Given the description of an element on the screen output the (x, y) to click on. 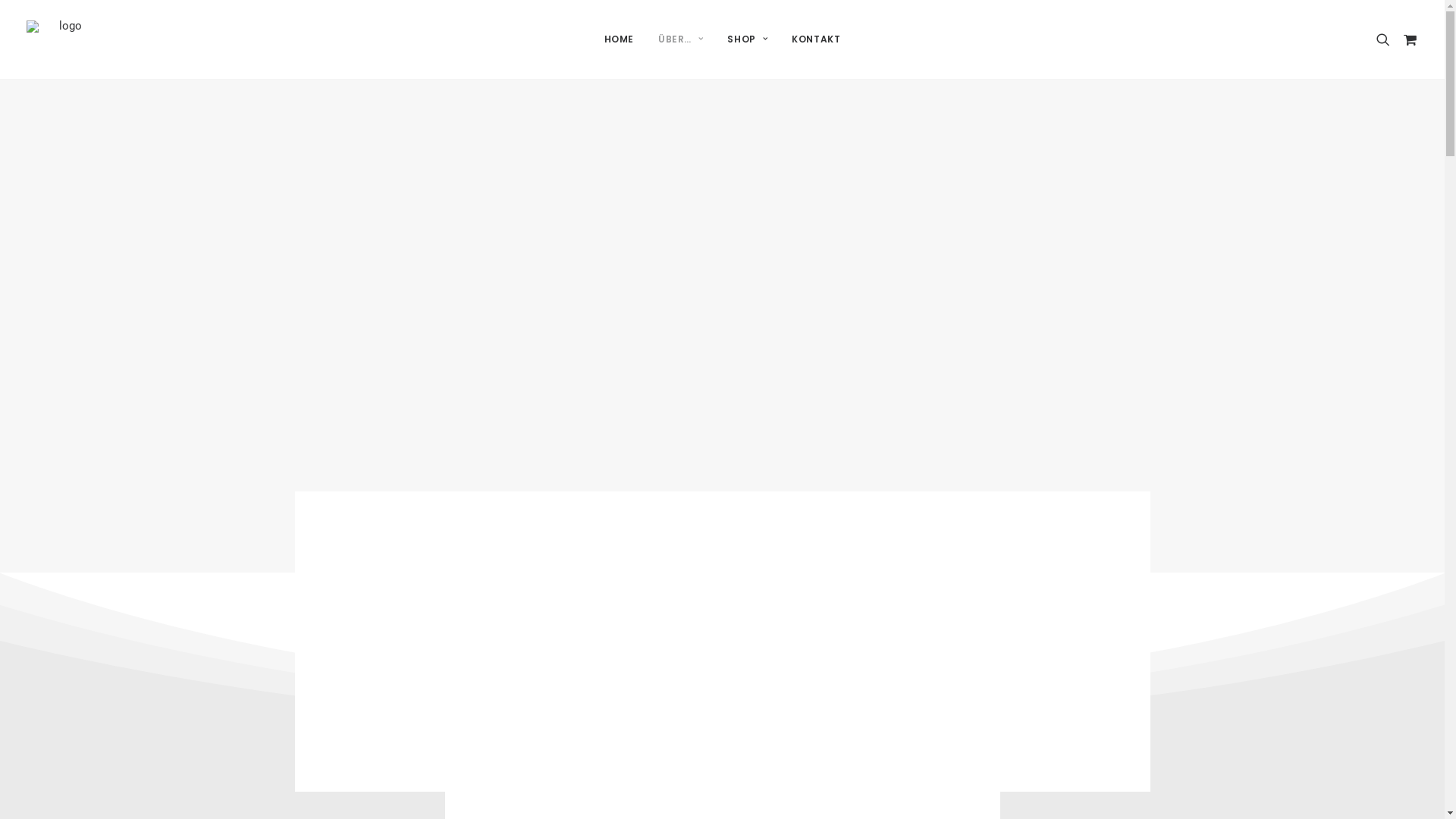
SHOP Element type: text (747, 39)
HOME Element type: text (618, 39)
cart Element type: hover (1407, 39)
KONTAKT Element type: text (815, 39)
